Given the description of an element on the screen output the (x, y) to click on. 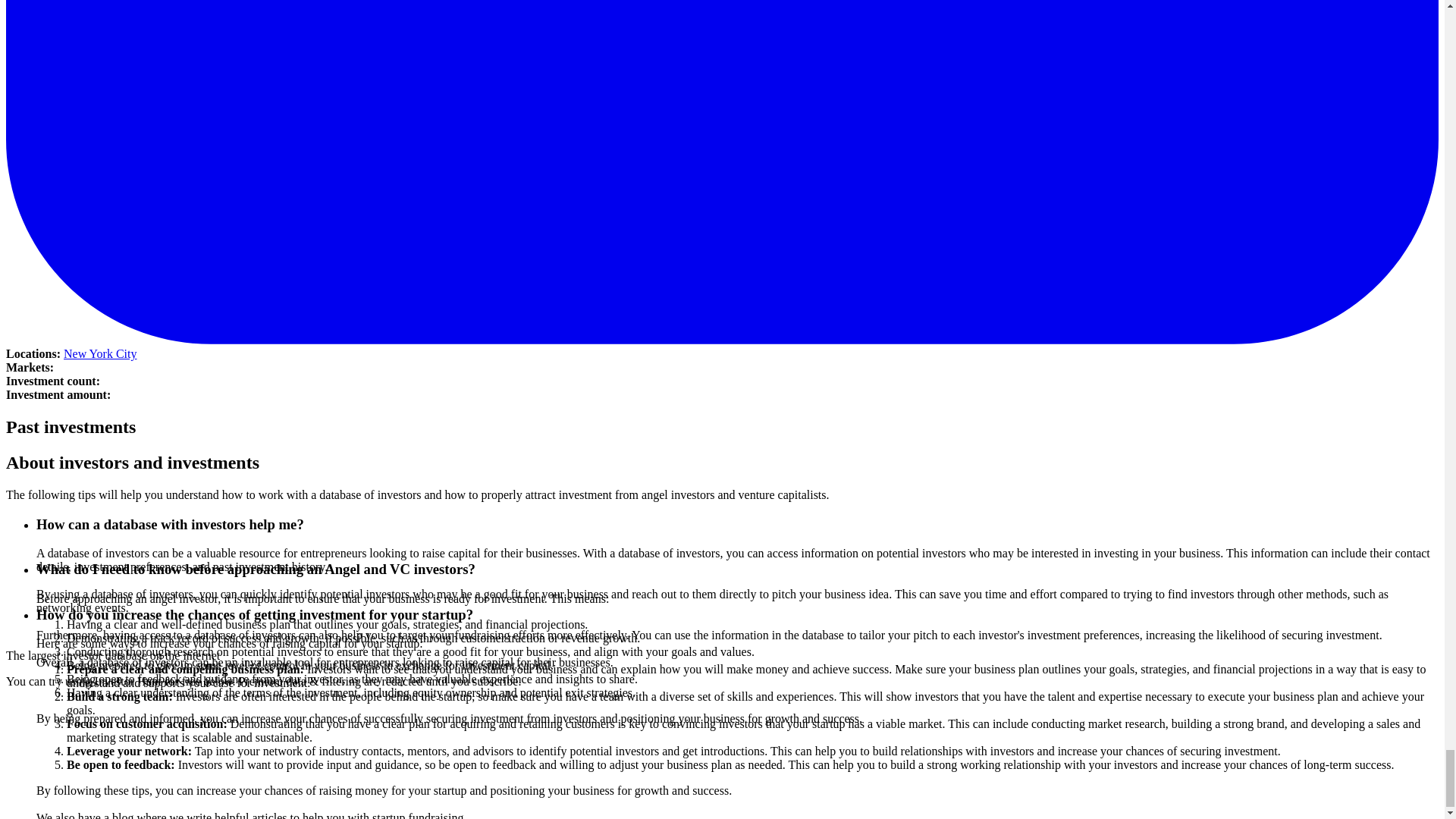
New York City (100, 353)
